Given the description of an element on the screen output the (x, y) to click on. 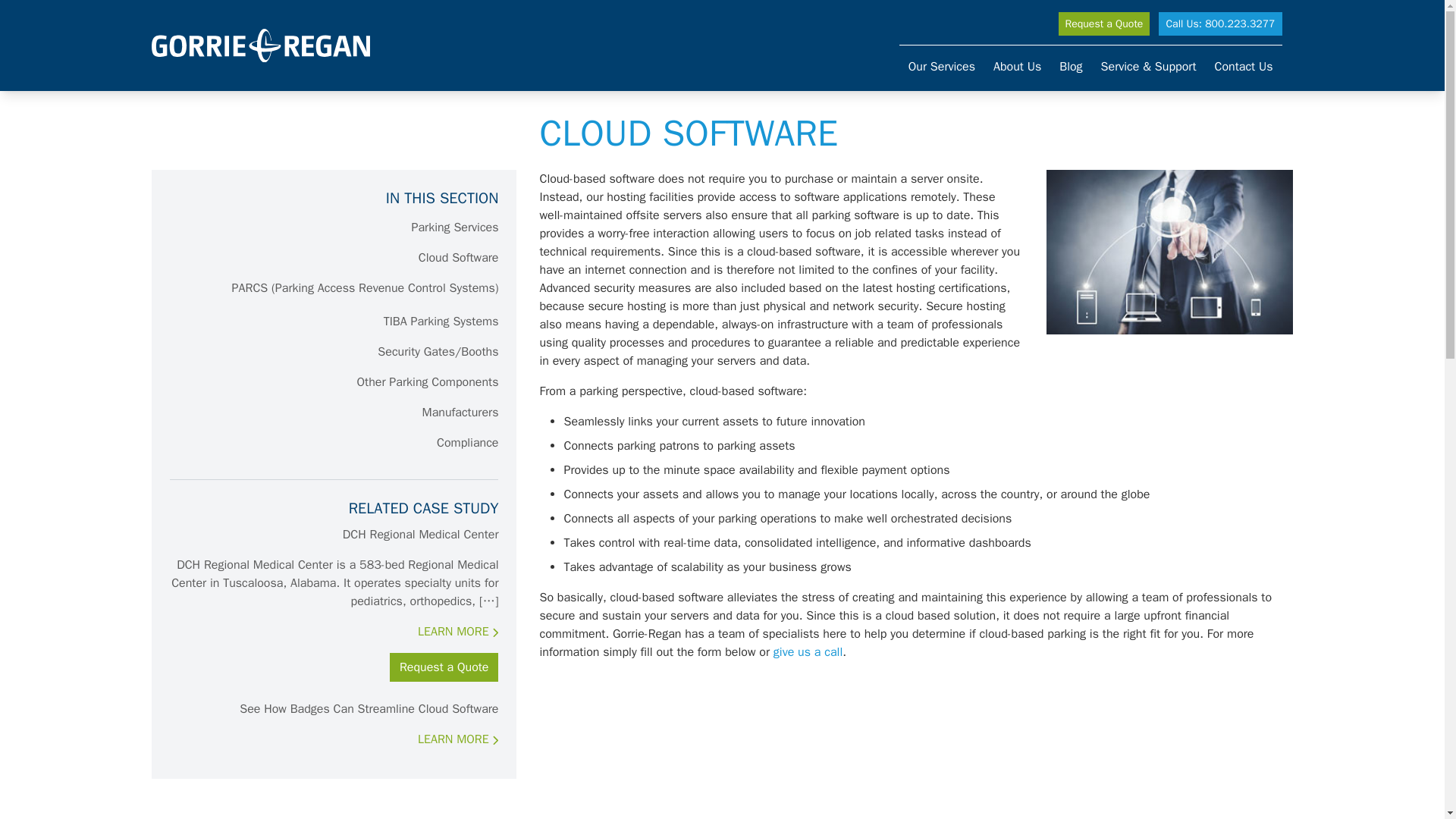
About Us (1016, 66)
Manufacturers (460, 412)
Blog (1069, 66)
Parking Services (453, 227)
Contact Us (1243, 66)
Call Us: 800.223.3277 (1219, 24)
Request a Quote (1104, 24)
Our Services (941, 66)
Cloud Software (458, 257)
Other Parking Components (427, 382)
